Given the description of an element on the screen output the (x, y) to click on. 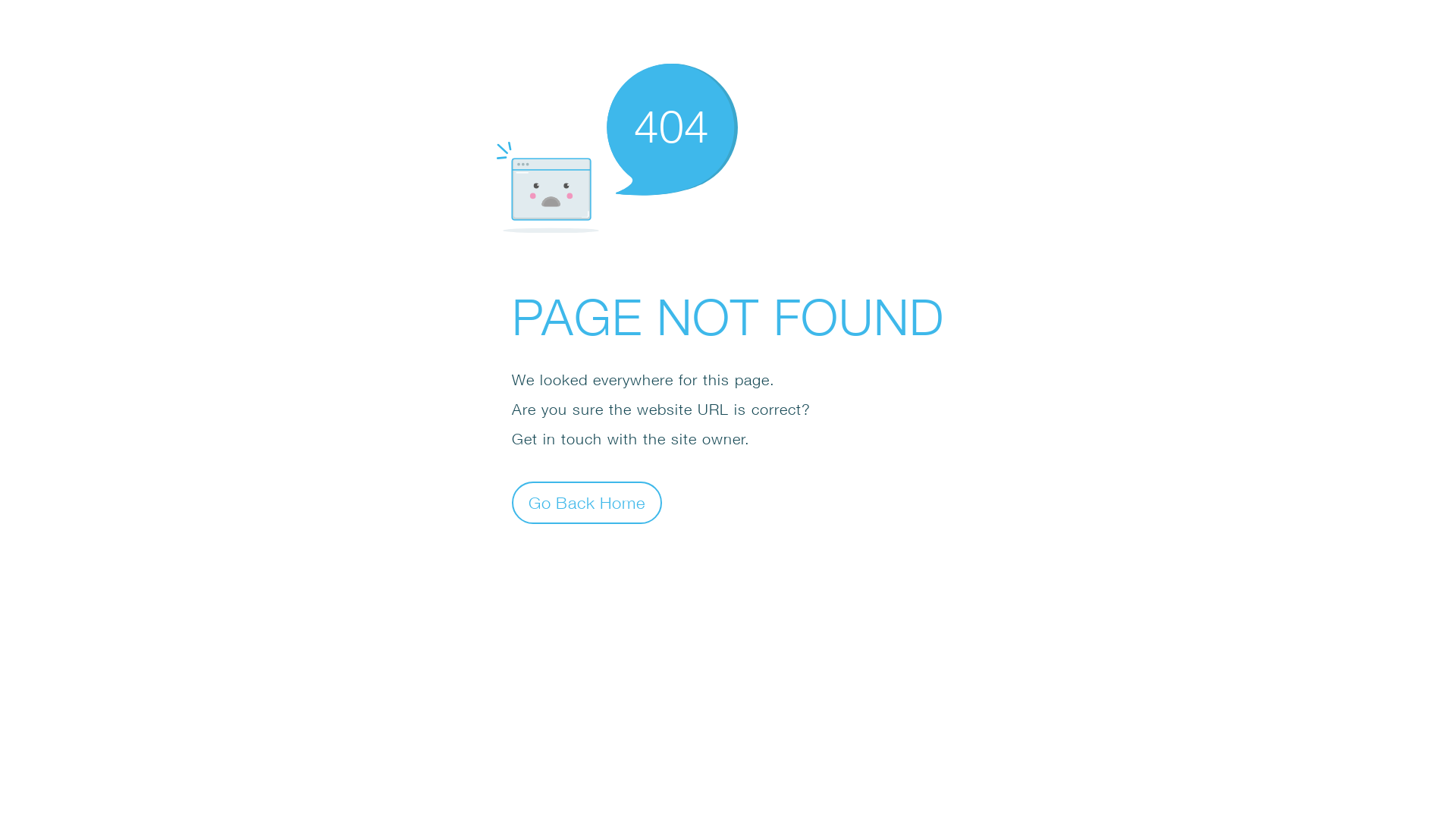
Go Back Home Element type: text (586, 502)
